Given the description of an element on the screen output the (x, y) to click on. 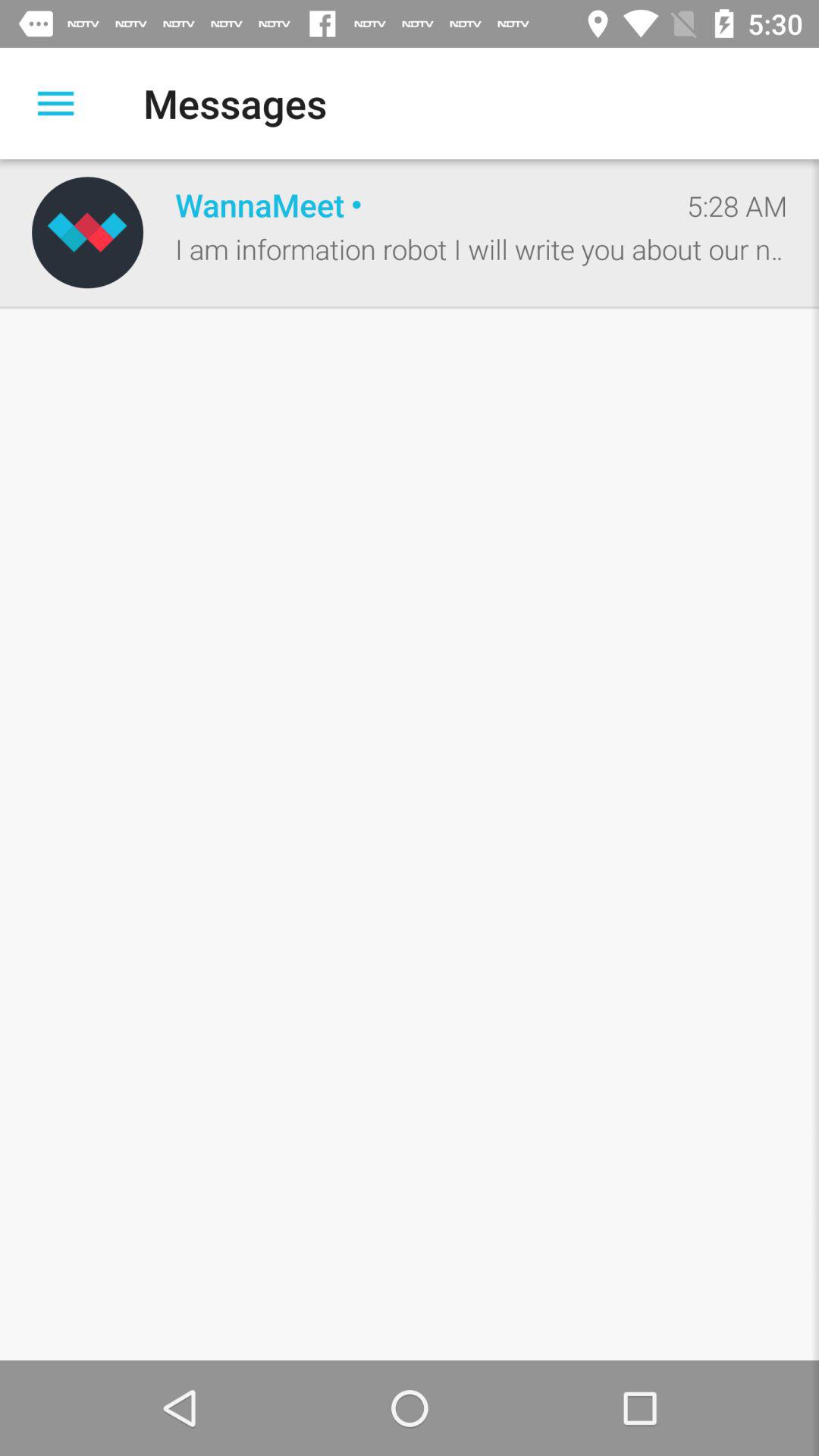
open the item at the top right corner (737, 205)
